Given the description of an element on the screen output the (x, y) to click on. 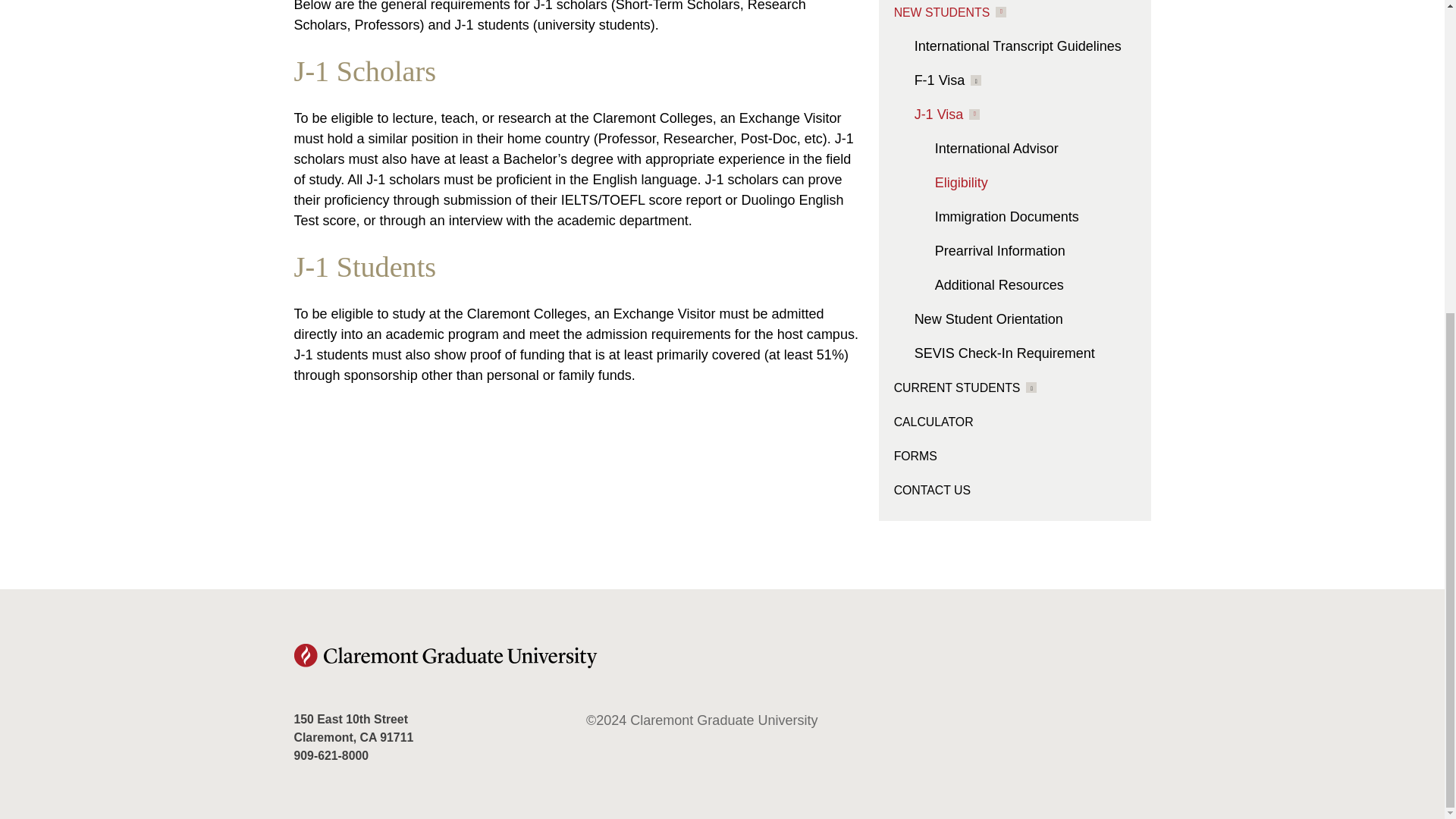
SEVIS Check-In Requirement (1004, 353)
International Transcript Guidelines (1017, 46)
NEW STUDENTS (950, 11)
International Advisor (996, 148)
Immigration Documents (1006, 216)
J-1 Visa (946, 114)
CURRENT STUDENTS (964, 387)
Eligibility (961, 182)
Additional Resources (999, 284)
New Student Orientation (988, 319)
